Given the description of an element on the screen output the (x, y) to click on. 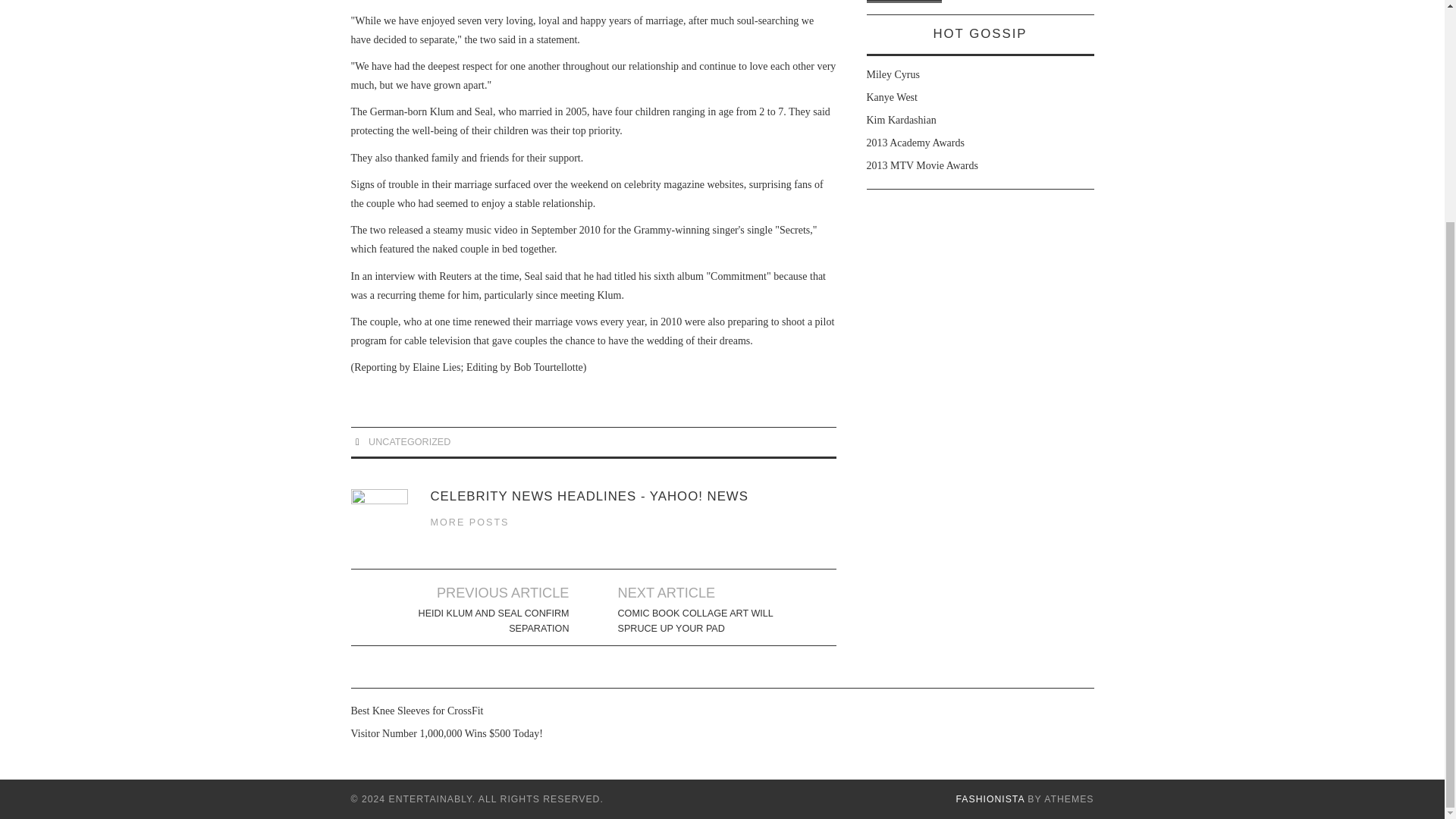
Miley Cyrus (892, 74)
Search (904, 1)
Best Knee Sleeves for CrossFit (416, 710)
FASHIONISTA (990, 798)
MORE POSTS (469, 521)
2013 Academy Awards (914, 142)
2013 MTV Movie Awards (921, 165)
Search (904, 1)
HEIDI KLUM AND SEAL CONFIRM SEPARATION (483, 621)
Kanye West (891, 97)
Kim Kardashian (901, 120)
Search (904, 1)
COMIC BOOK COLLAGE ART WILL SPRUCE UP YOUR PAD (702, 621)
